Given the description of an element on the screen output the (x, y) to click on. 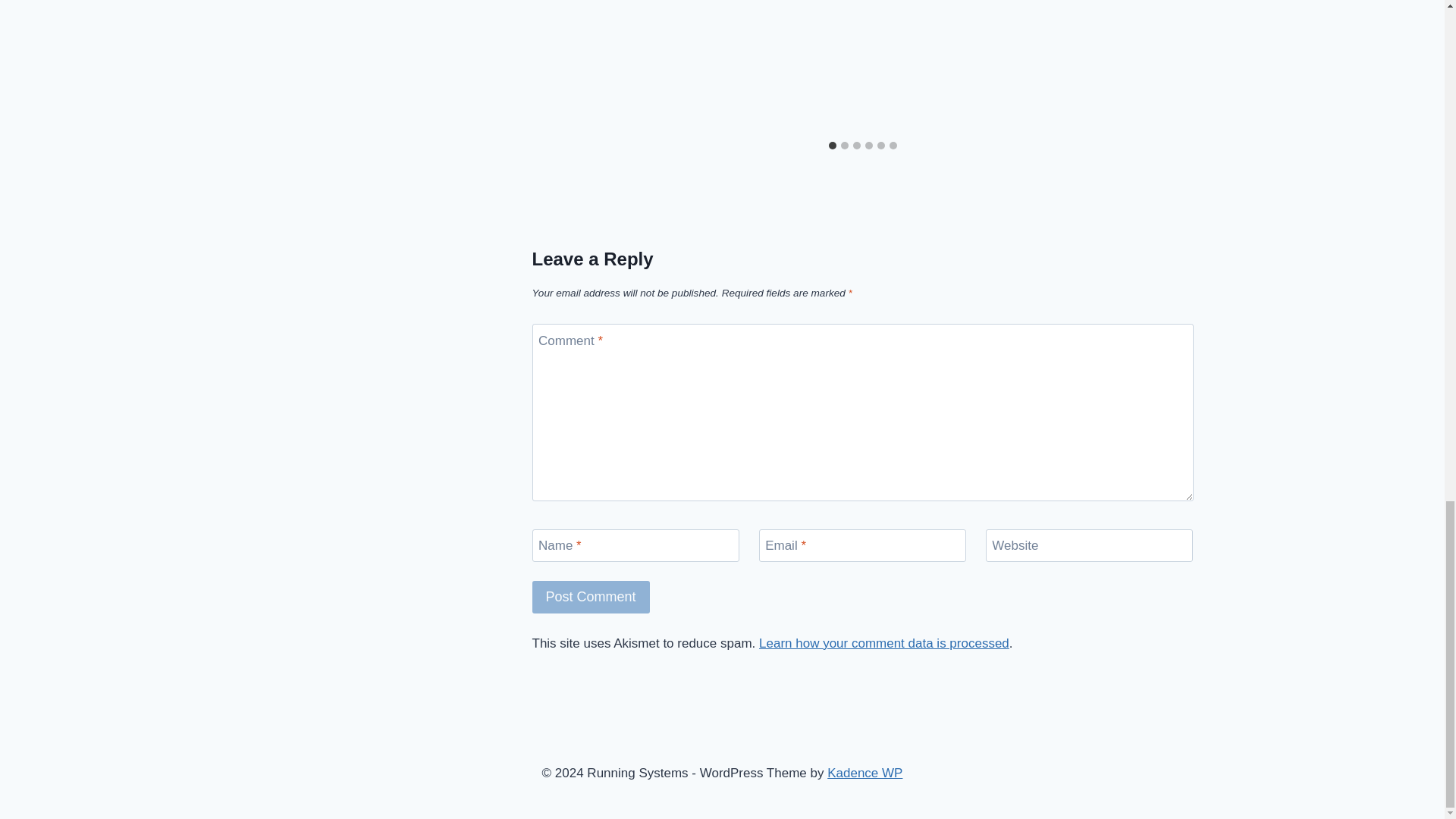
Post Comment (590, 596)
